Given the description of an element on the screen output the (x, y) to click on. 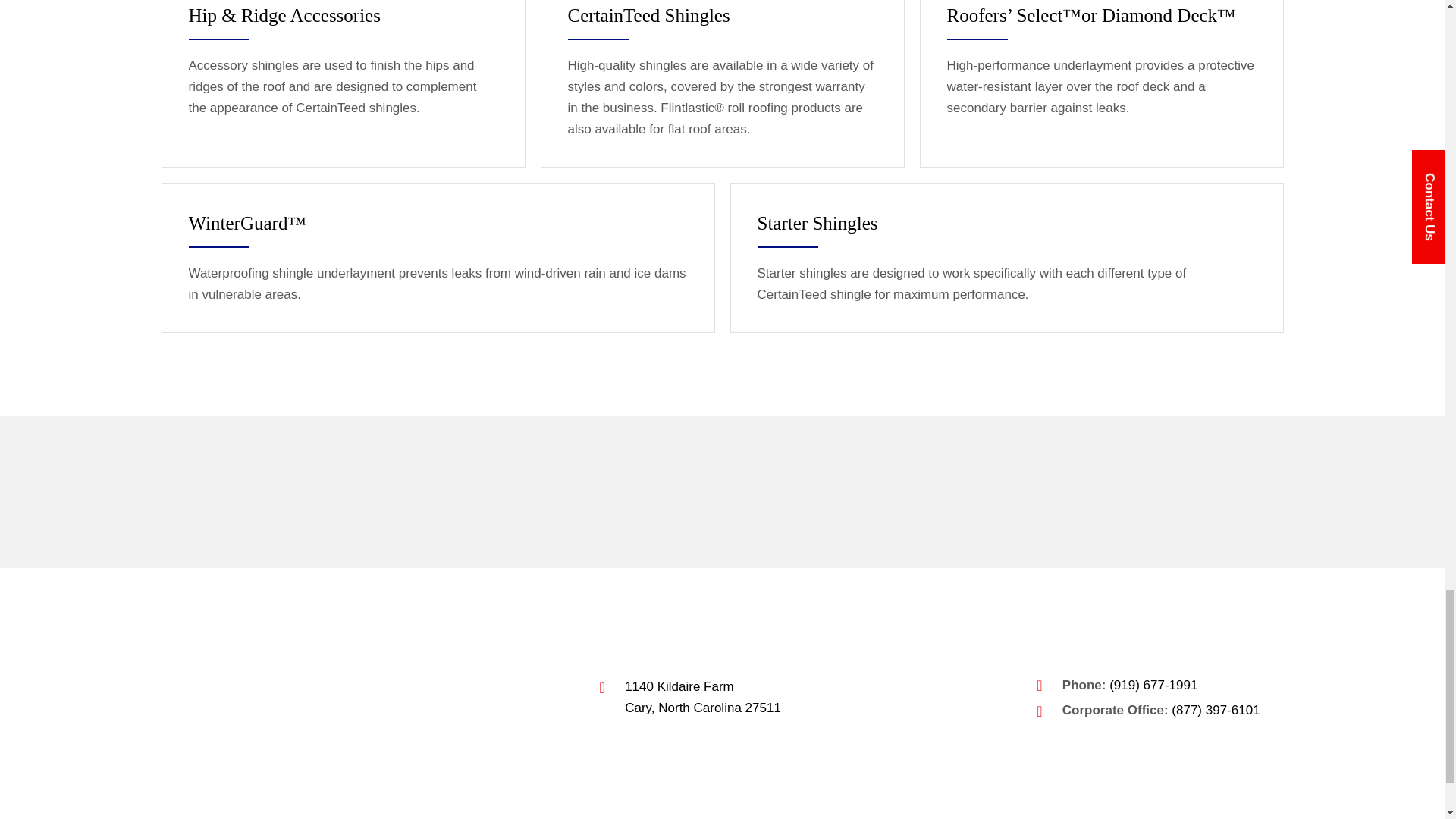
Legacy Construction and Roofing (279, 698)
